Given the description of an element on the screen output the (x, y) to click on. 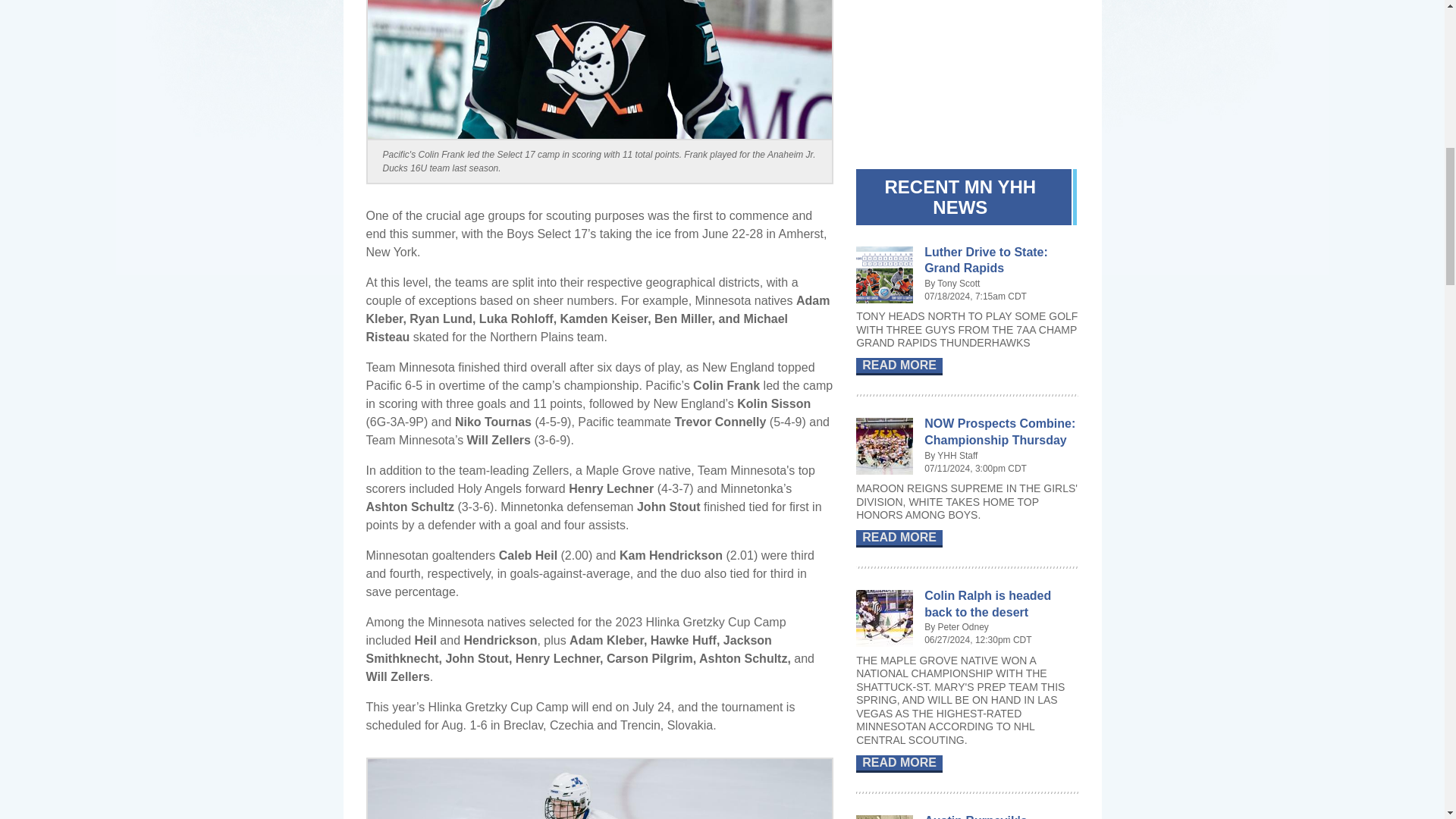
READ MORE (899, 366)
NOW Prospects Combine: Championship Thursday (999, 431)
Luther Drive to State: Grand Rapids (986, 260)
READ MORE (899, 764)
READ MORE (899, 538)
3rd party ad content (969, 73)
Austin Burnevik's impeccable timing (977, 816)
Colin Ralph is headed back to the desert (987, 603)
